Given the description of an element on the screen output the (x, y) to click on. 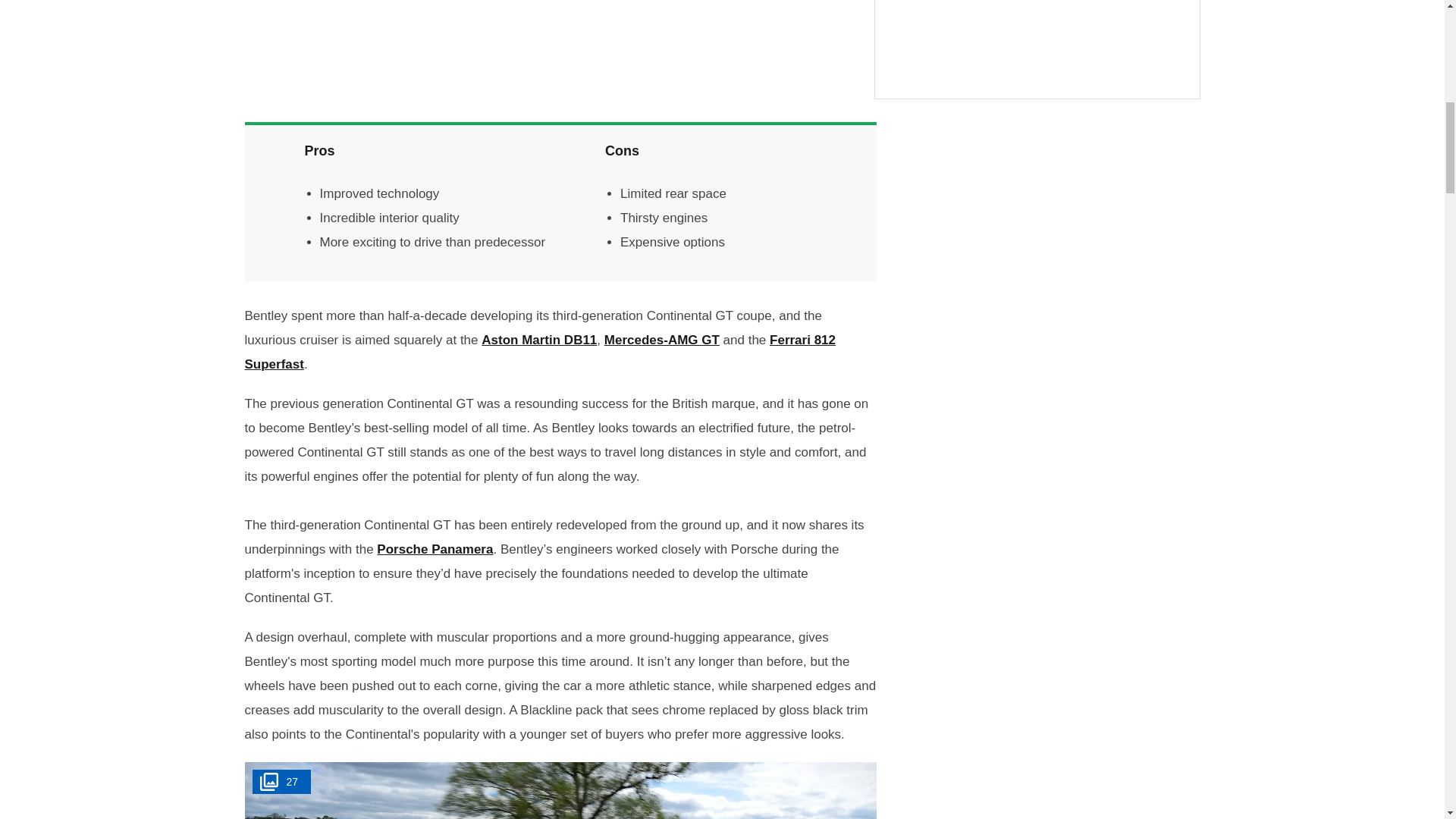
27 (560, 790)
Aston Martin DB11 (538, 339)
Mercedes-AMG GT (661, 339)
Ferrari 812 Superfast (539, 351)
Porsche Panamera (435, 549)
